Given the description of an element on the screen output the (x, y) to click on. 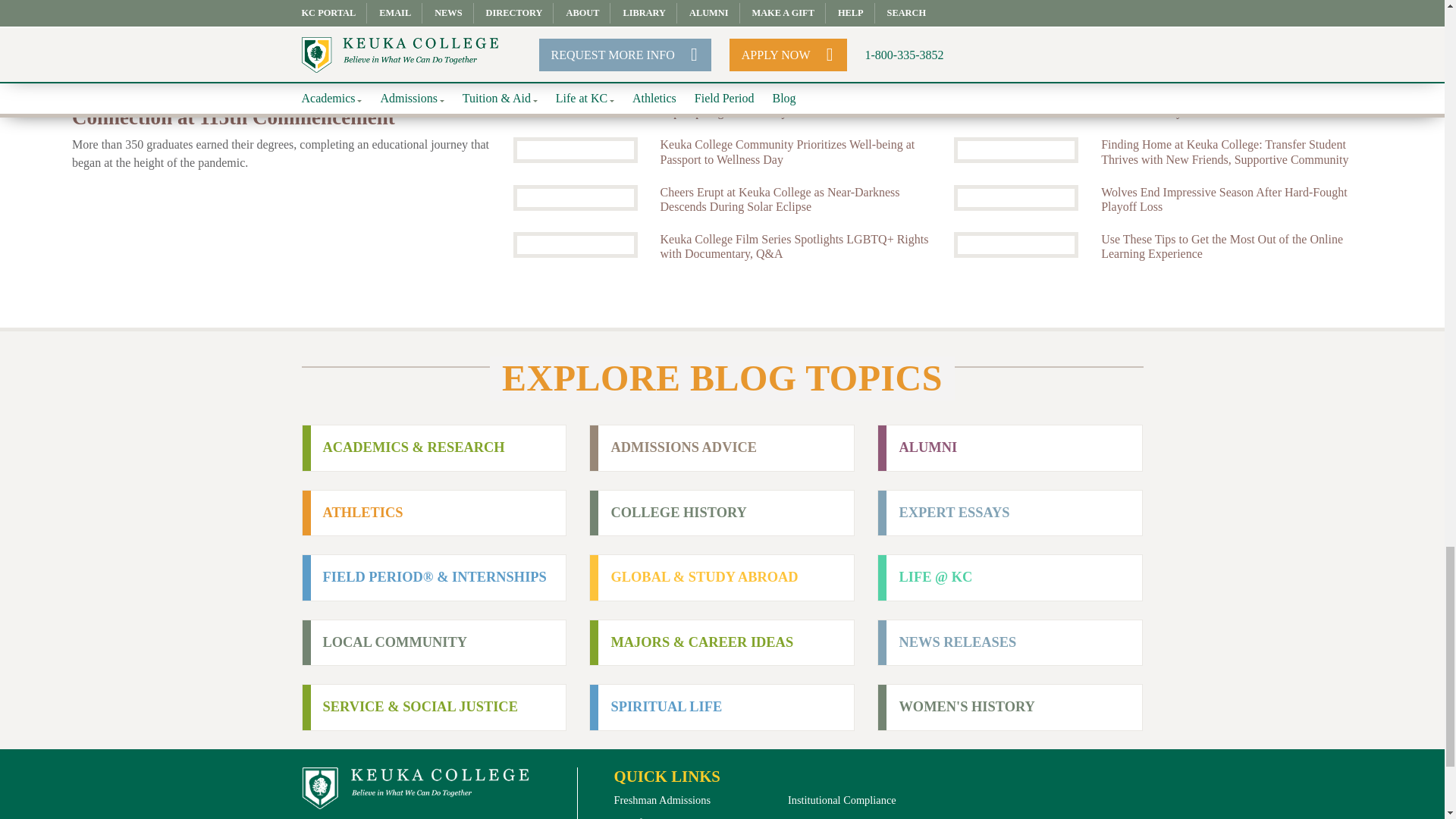
Wolves End Impressive Season After Hard-Fought Playoff Loss (1236, 199)
Wolves End Impressive Season After Hard-Fought Playoff Loss (1015, 197)
